Given the description of an element on the screen output the (x, y) to click on. 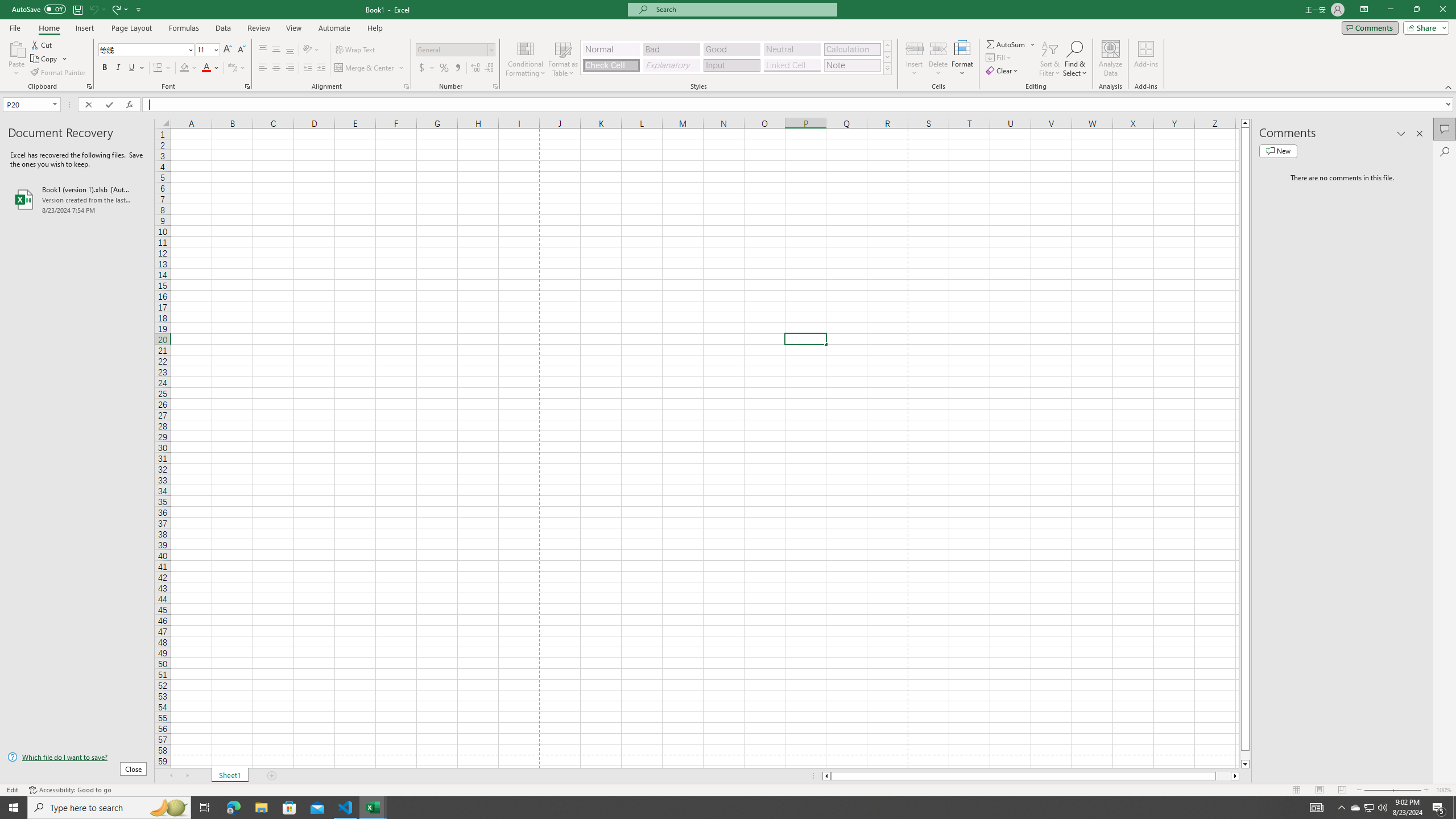
Underline (136, 67)
Paste (16, 58)
Decrease Font Size (240, 49)
Microsoft search (742, 9)
Accounting Number Format (426, 67)
Align Right (290, 67)
Explanatory Text (671, 65)
Paste (16, 48)
Calculation (852, 49)
Orientation (311, 49)
Bold (104, 67)
Neutral (791, 49)
